Given the description of an element on the screen output the (x, y) to click on. 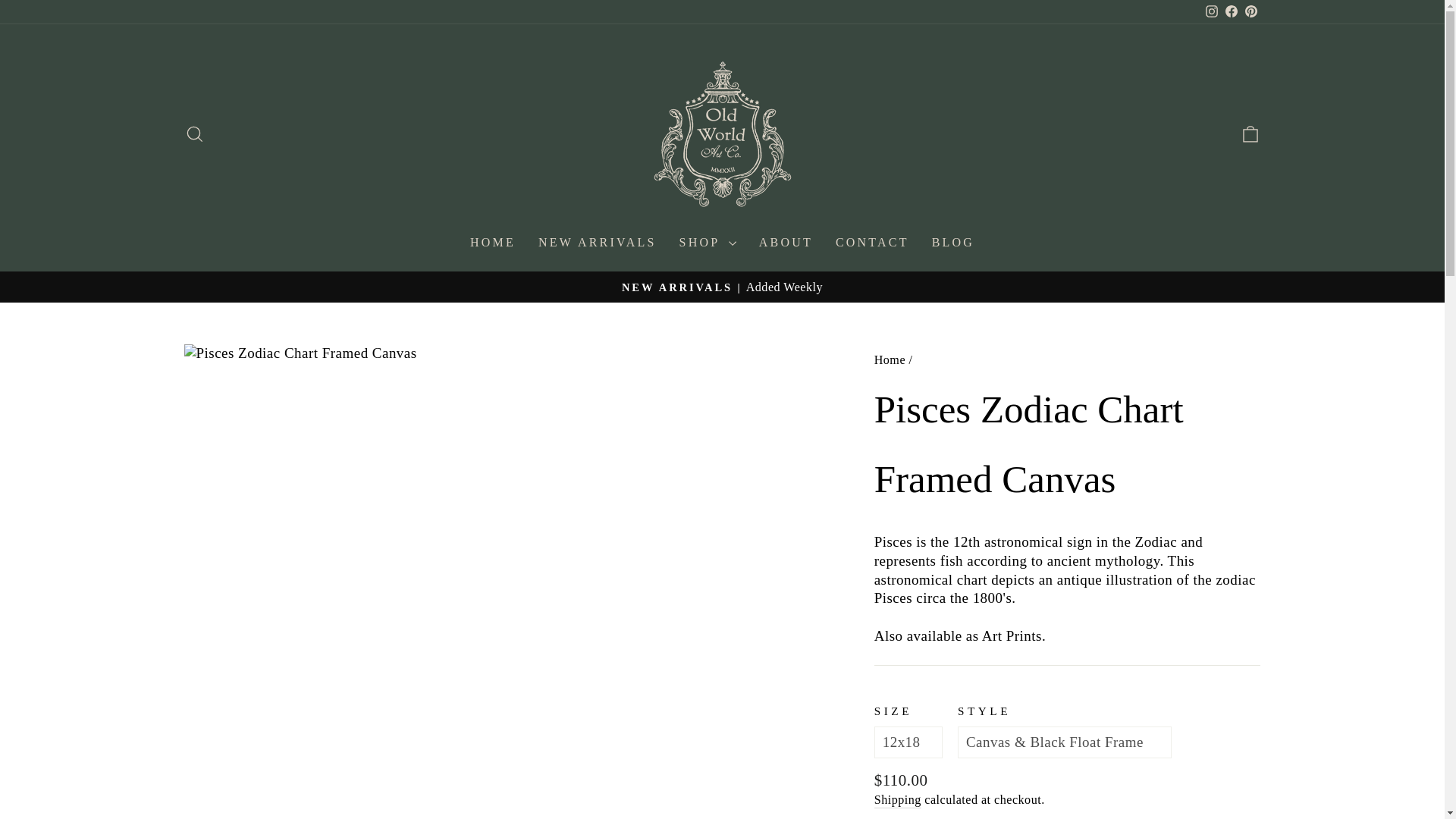
ICON-BAG-MINIMAL (1249, 133)
ICON-SEARCH (194, 133)
instagram (1211, 10)
Back to the frontpage (890, 359)
